Given the description of an element on the screen output the (x, y) to click on. 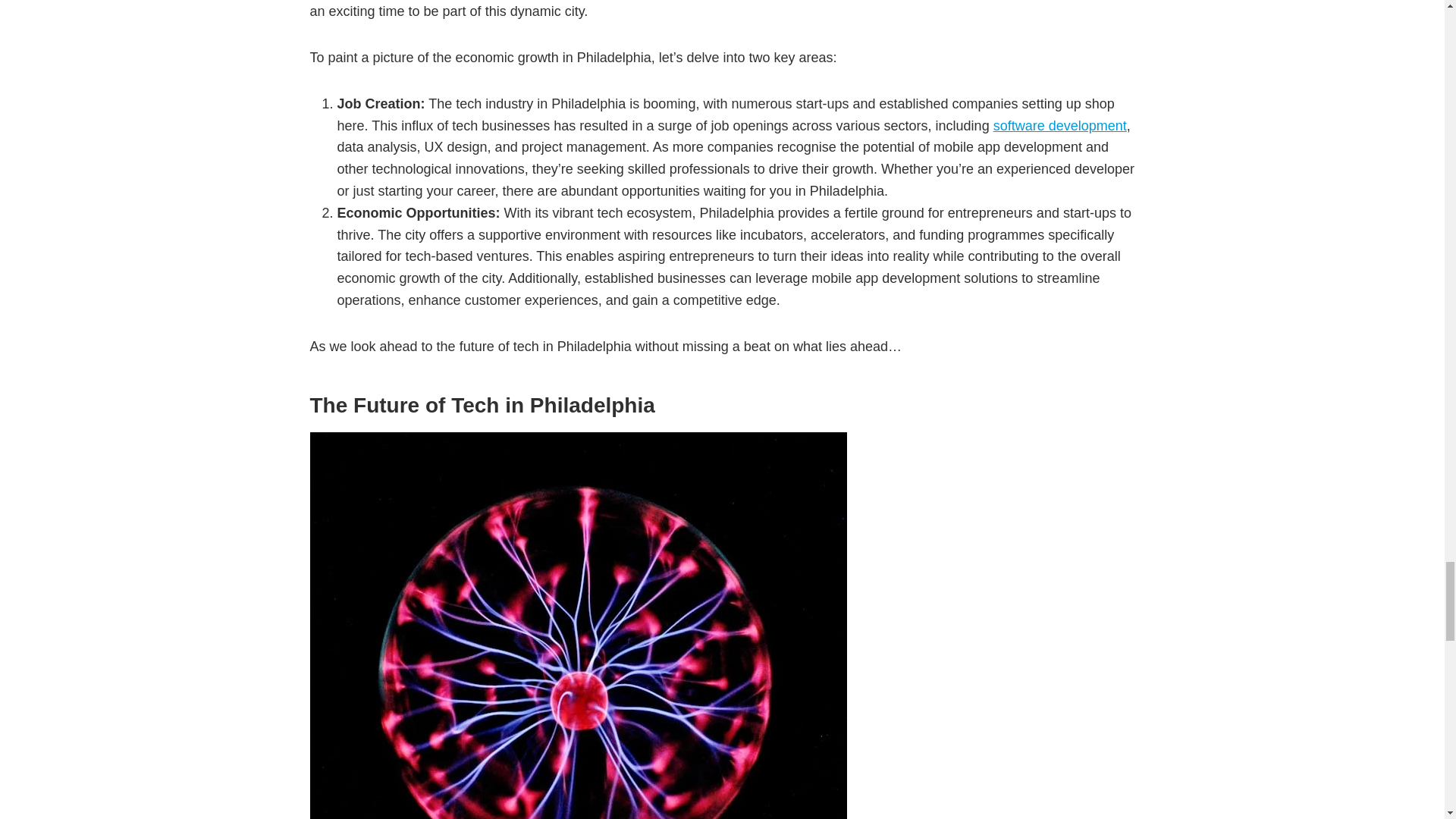
software development (1059, 125)
